Given the description of an element on the screen output the (x, y) to click on. 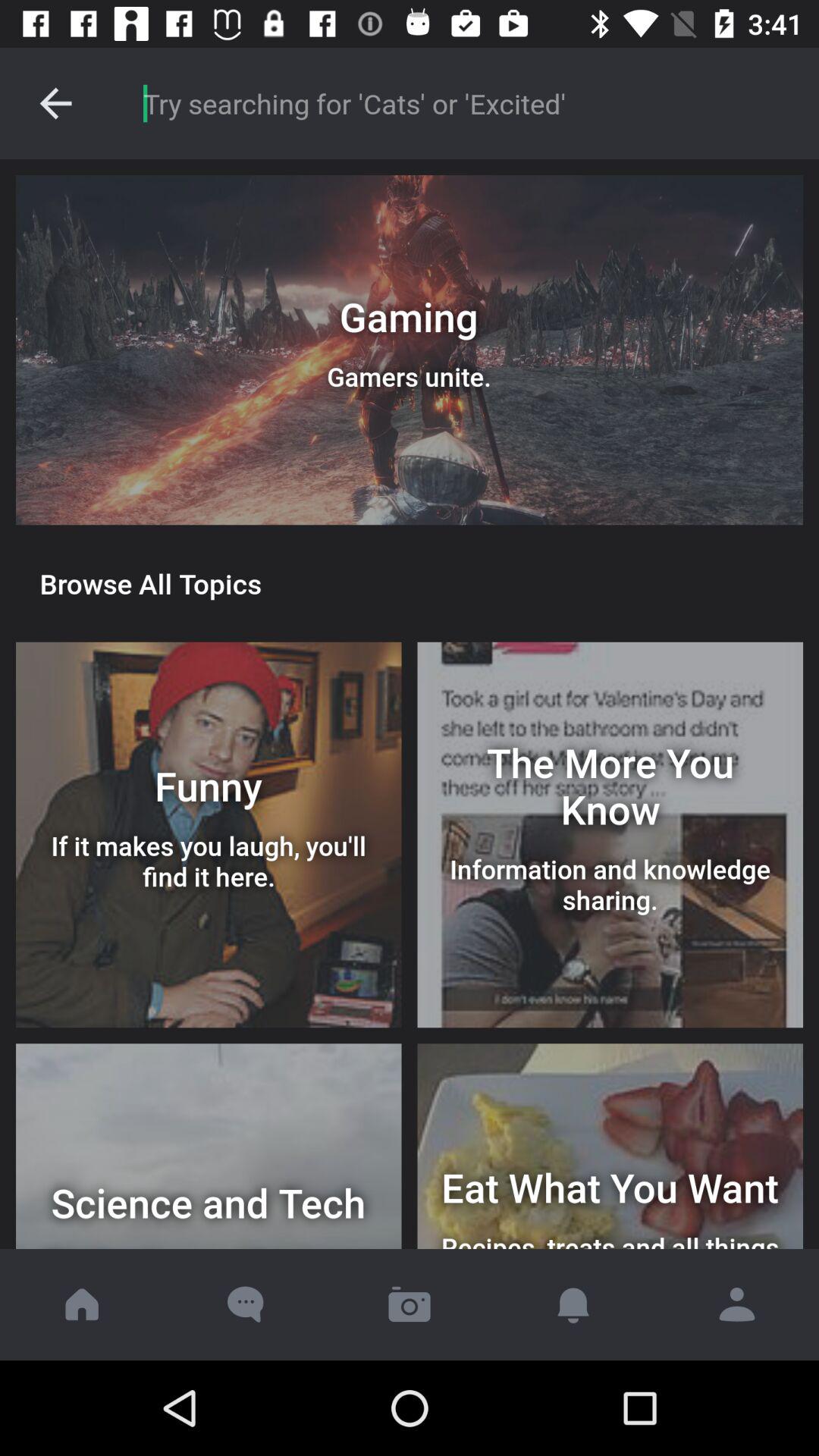
go to home page (81, 1304)
